Given the description of an element on the screen output the (x, y) to click on. 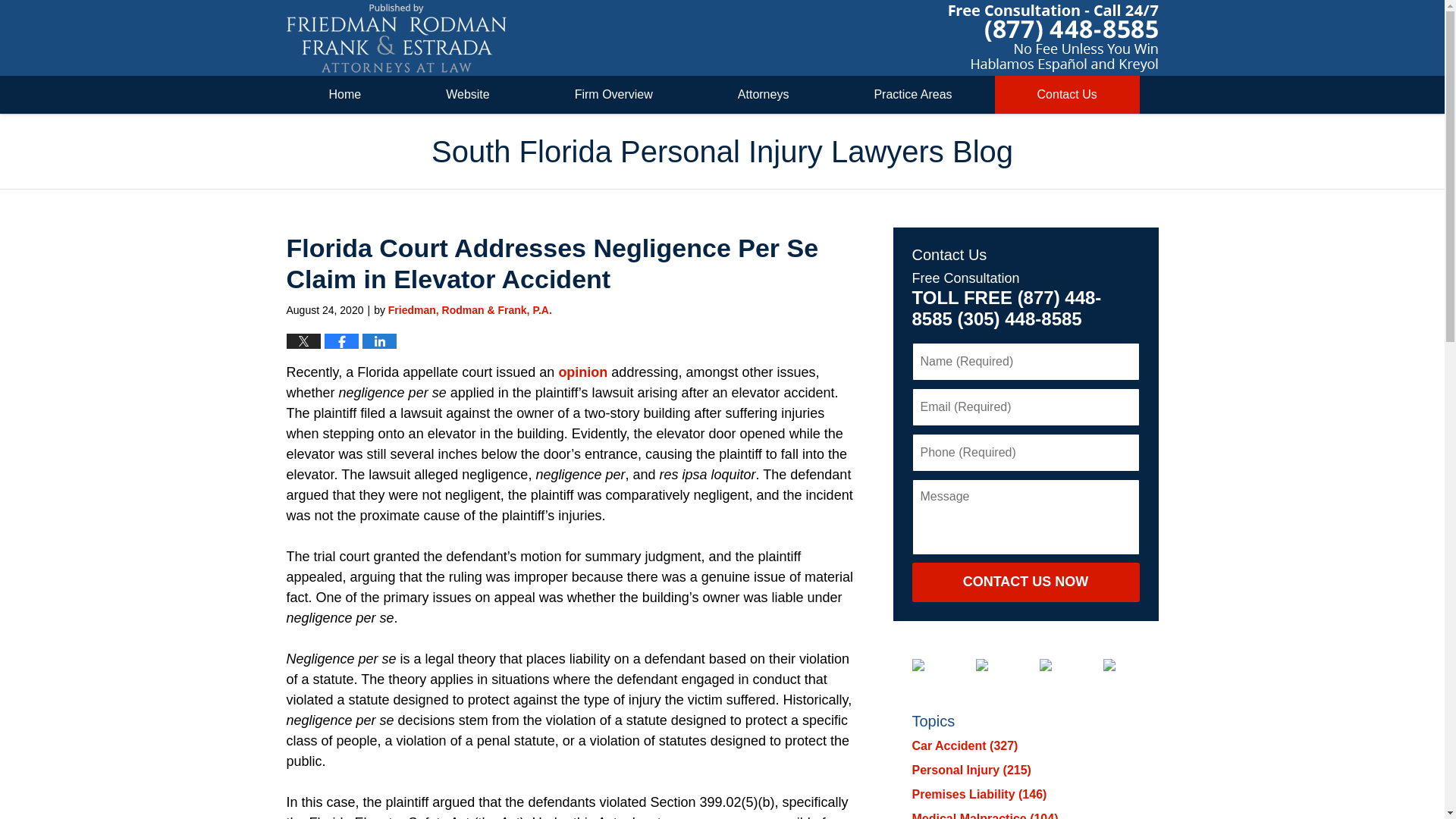
Firm Overview (613, 94)
Facebook (929, 664)
Home (345, 94)
Practice Areas (912, 94)
CONTACT US NOW (1024, 581)
Please enter a valid phone number. (1024, 452)
Justia (1057, 664)
opinion (582, 372)
Contact Us (1067, 94)
Website (467, 94)
Feed (1120, 664)
South Florida Personal Injury Lawyers Blog (396, 37)
Attorneys (763, 94)
LinkedIn (993, 664)
